Given the description of an element on the screen output the (x, y) to click on. 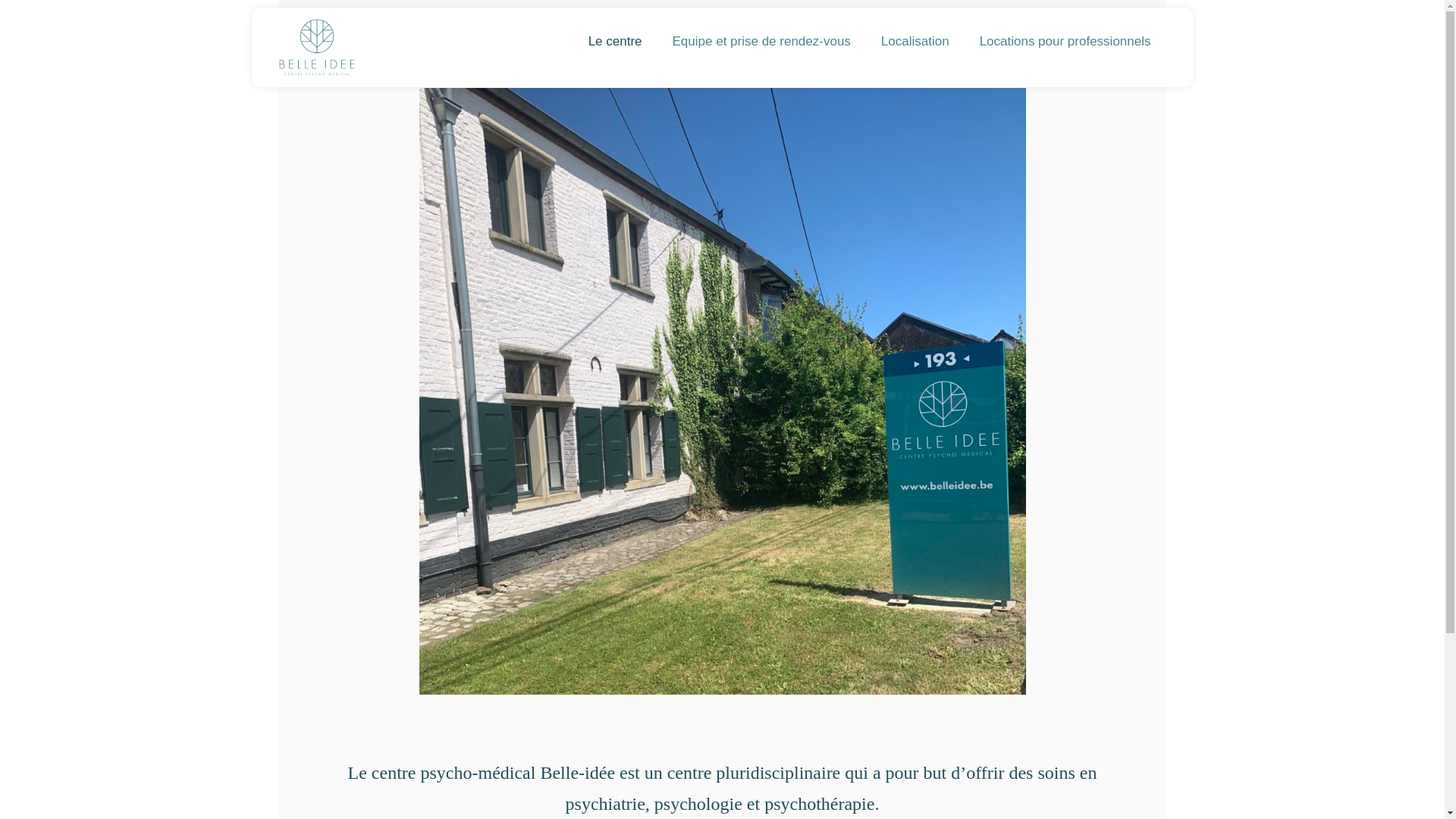
Locations pour professionnels Element type: text (1065, 41)
Localisation Element type: text (915, 41)
Equipe et prise de rendez-vous Element type: text (761, 41)
Le centre Element type: text (615, 41)
